Given the description of an element on the screen output the (x, y) to click on. 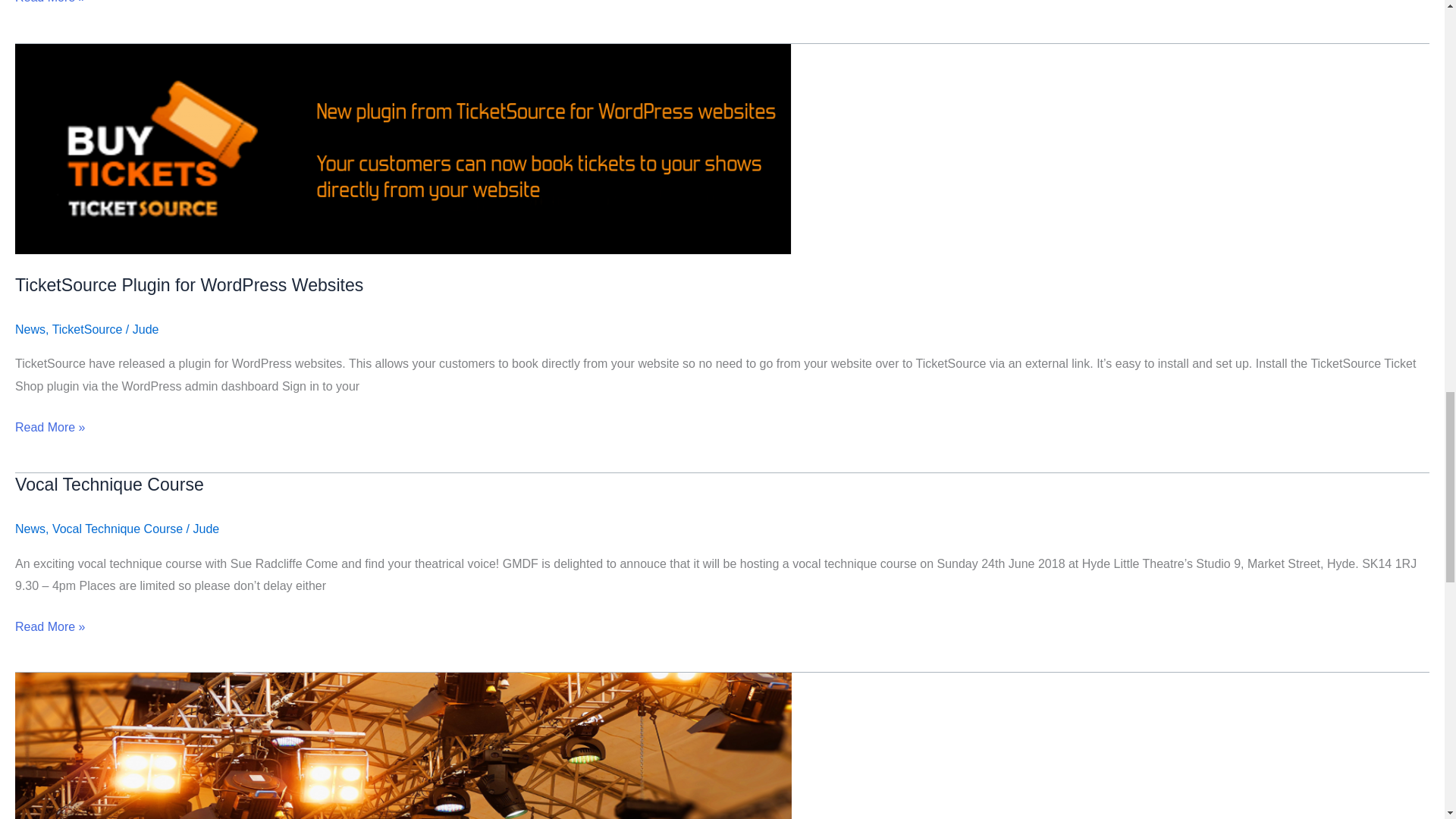
View all posts by Jude (206, 528)
View all posts by Jude (145, 328)
